Given the description of an element on the screen output the (x, y) to click on. 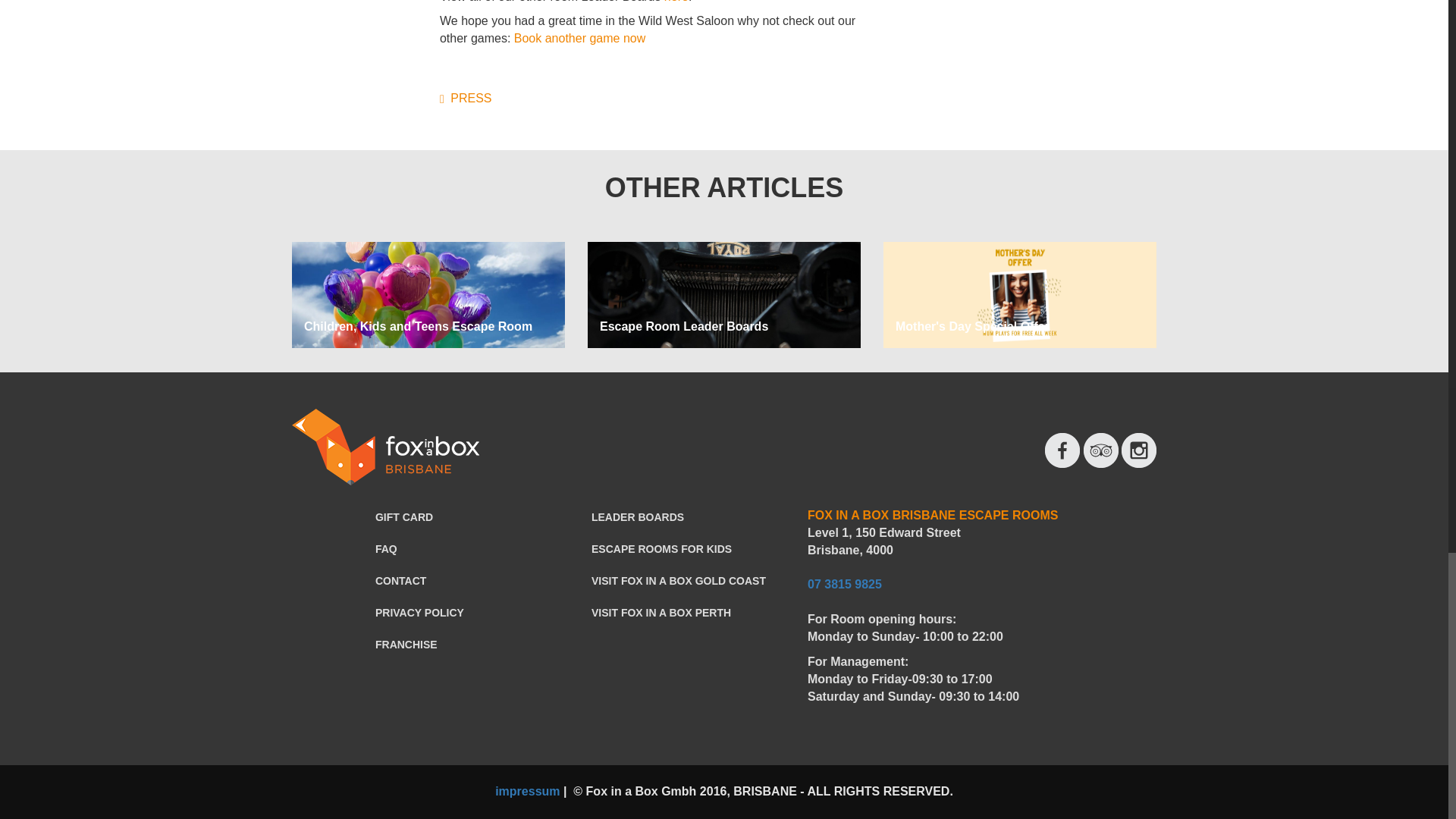
impressum (527, 790)
  PRESS (465, 97)
Fox in a Box Brisbane Escape Rooms (385, 446)
Escape Room Leader Boards (683, 326)
Book another game now (579, 38)
Children, Kids and Teens Escape Room (418, 326)
Mother's Day Special Offer (972, 326)
07 3815 9825 (845, 584)
here (675, 1)
